Given the description of an element on the screen output the (x, y) to click on. 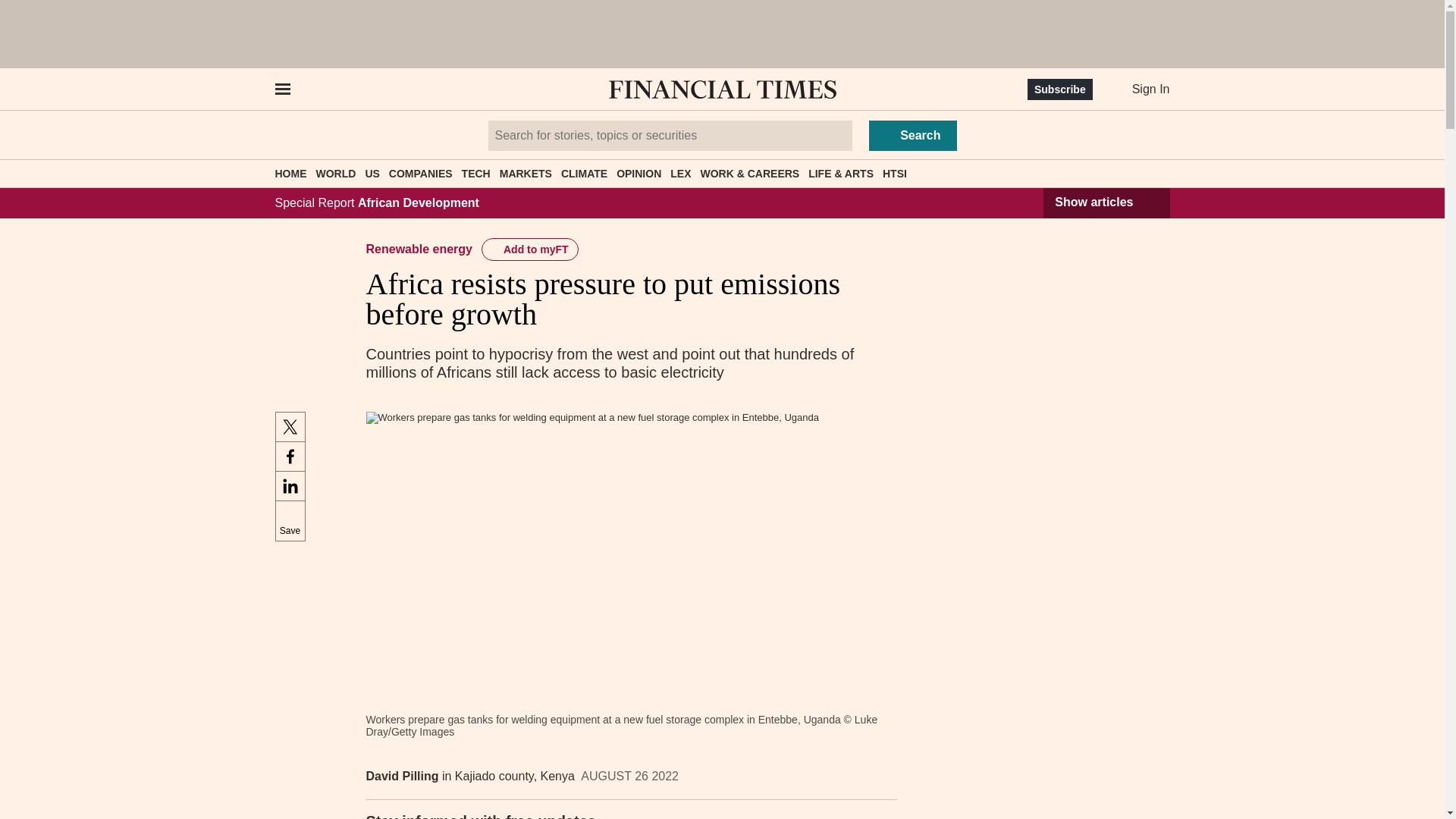
Go to Financial Times homepage (721, 89)
Sign In (1139, 89)
Financial Times (721, 89)
Financial Times (721, 89)
Add Renewable energy to myFT (529, 249)
Print this page (879, 776)
Open search bar (327, 89)
Open side navigation menu (281, 89)
August 26 2022 12:00 pm (629, 775)
Search (912, 135)
